Given the description of an element on the screen output the (x, y) to click on. 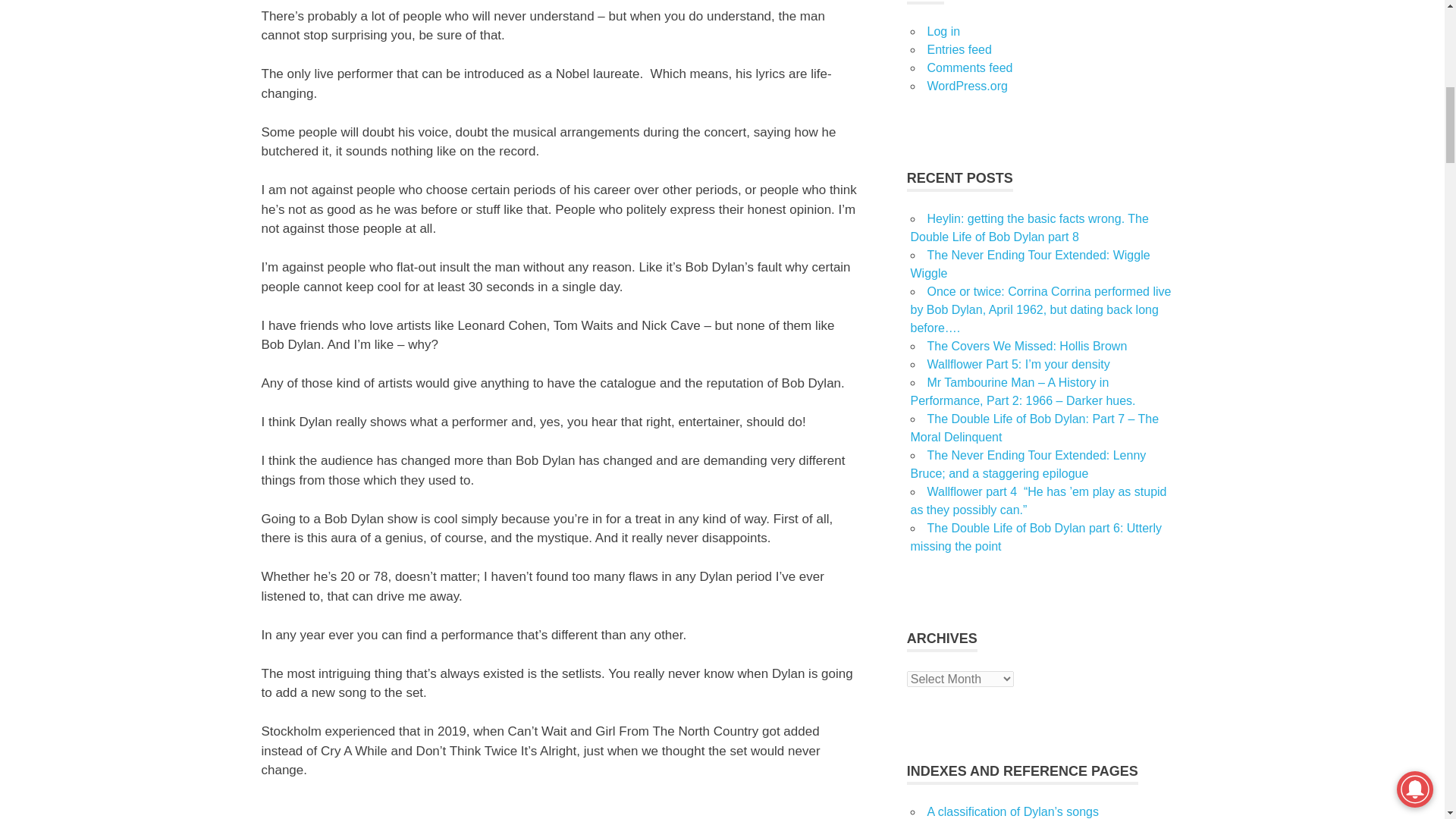
Entries feed (958, 49)
Comments feed (968, 67)
The Covers We Missed: Hollis Brown (1026, 345)
Log in (942, 31)
WordPress.org (966, 85)
The Never Ending Tour Extended: Wiggle Wiggle (1030, 264)
